Given the description of an element on the screen output the (x, y) to click on. 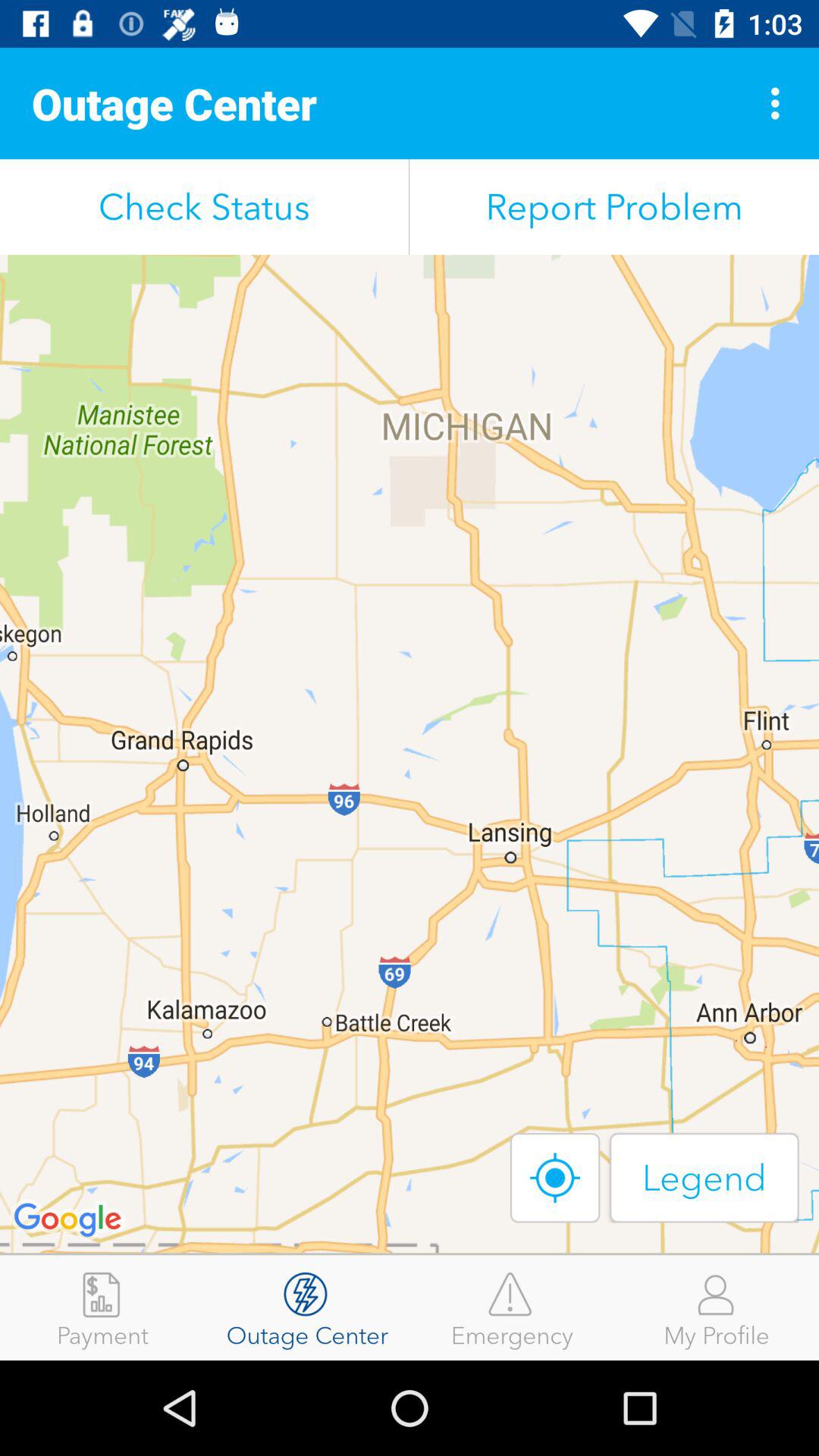
scroll until the report problem item (614, 206)
